Given the description of an element on the screen output the (x, y) to click on. 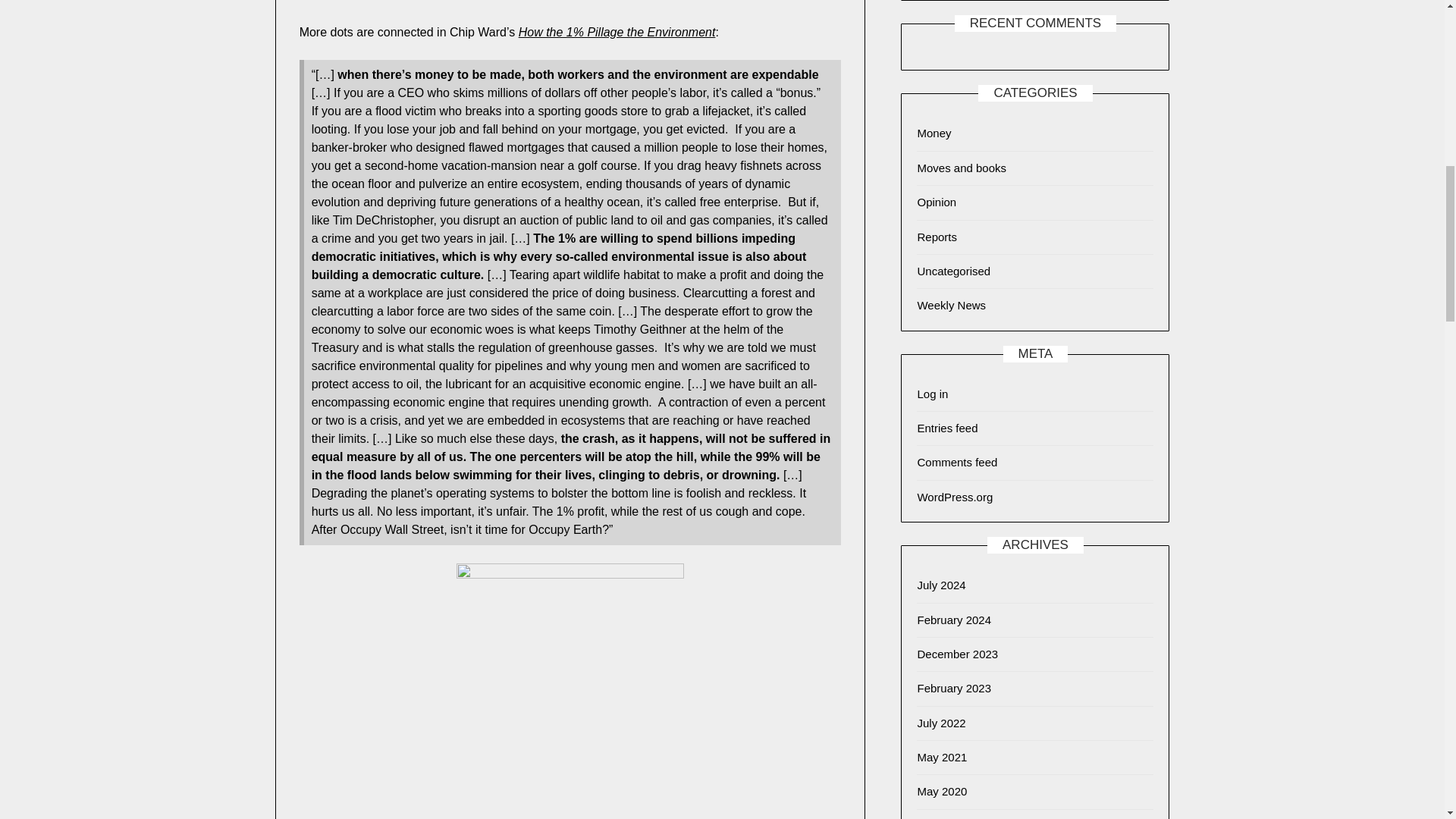
Moves and books (961, 167)
Comments feed (957, 461)
Uncategorised (953, 270)
Weekly News (951, 305)
February 2024 (954, 618)
Opinion (936, 201)
July 2024 (941, 584)
December 2023 (957, 653)
WordPress.org (954, 496)
Money (933, 132)
Entries feed (946, 427)
Log in (932, 393)
Reports (936, 236)
